Given the description of an element on the screen output the (x, y) to click on. 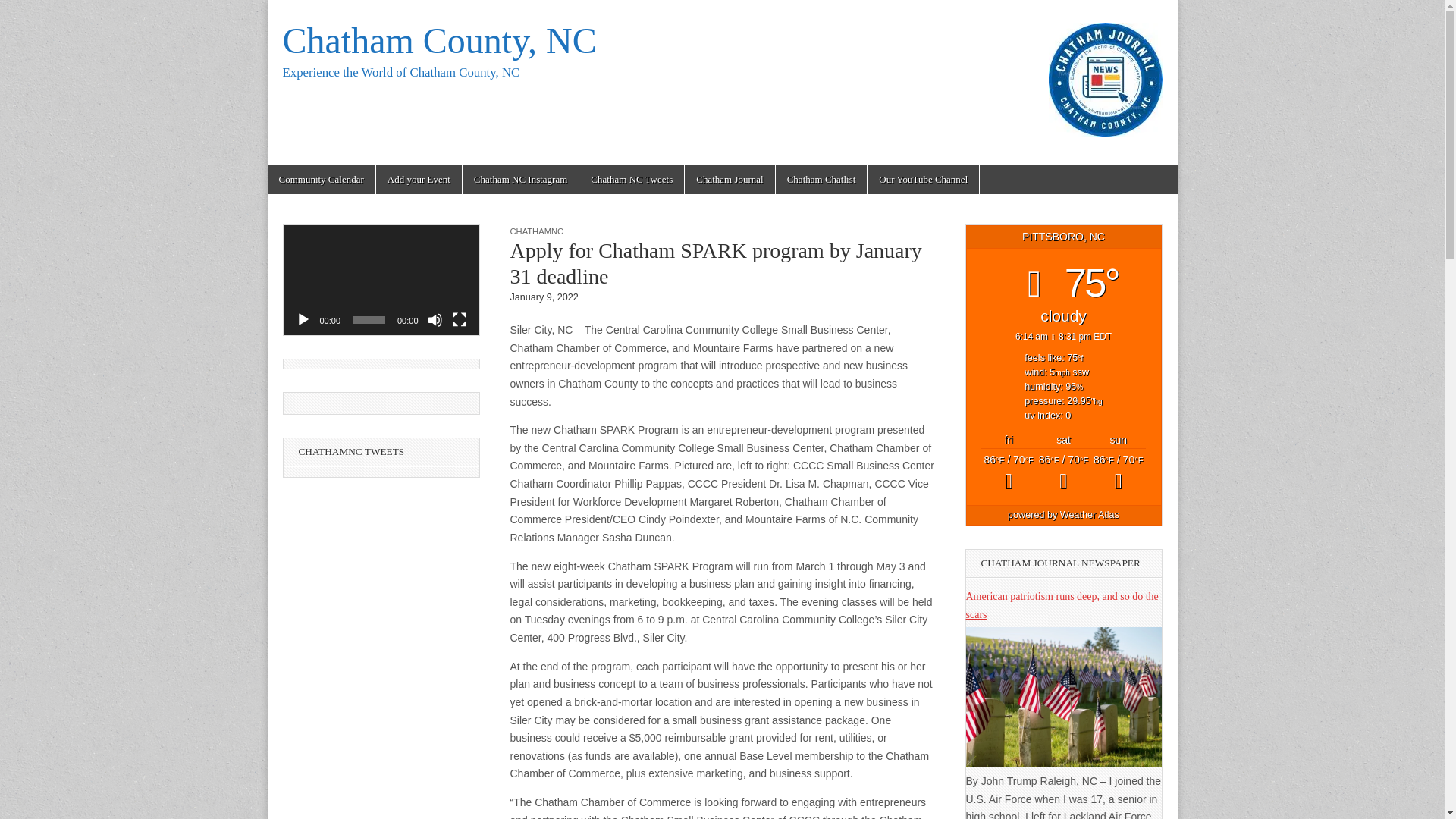
Play (303, 319)
Chatham County, NC (438, 40)
PM Thunderstorms (1117, 473)
Community Calendar (320, 179)
Our YouTube Channel (922, 179)
American patriotism runs deep, and so do the scars (1062, 604)
PM Thunderstorms (1008, 473)
American patriotism runs deep, and so do the scars (1063, 763)
Scattered Thunderstorms (1062, 473)
Add your Event (418, 179)
Chatham NC Instagram (520, 179)
Chatham NC Tweets (631, 179)
Mute (435, 319)
Chatham Chatlist (821, 179)
